Given the description of an element on the screen output the (x, y) to click on. 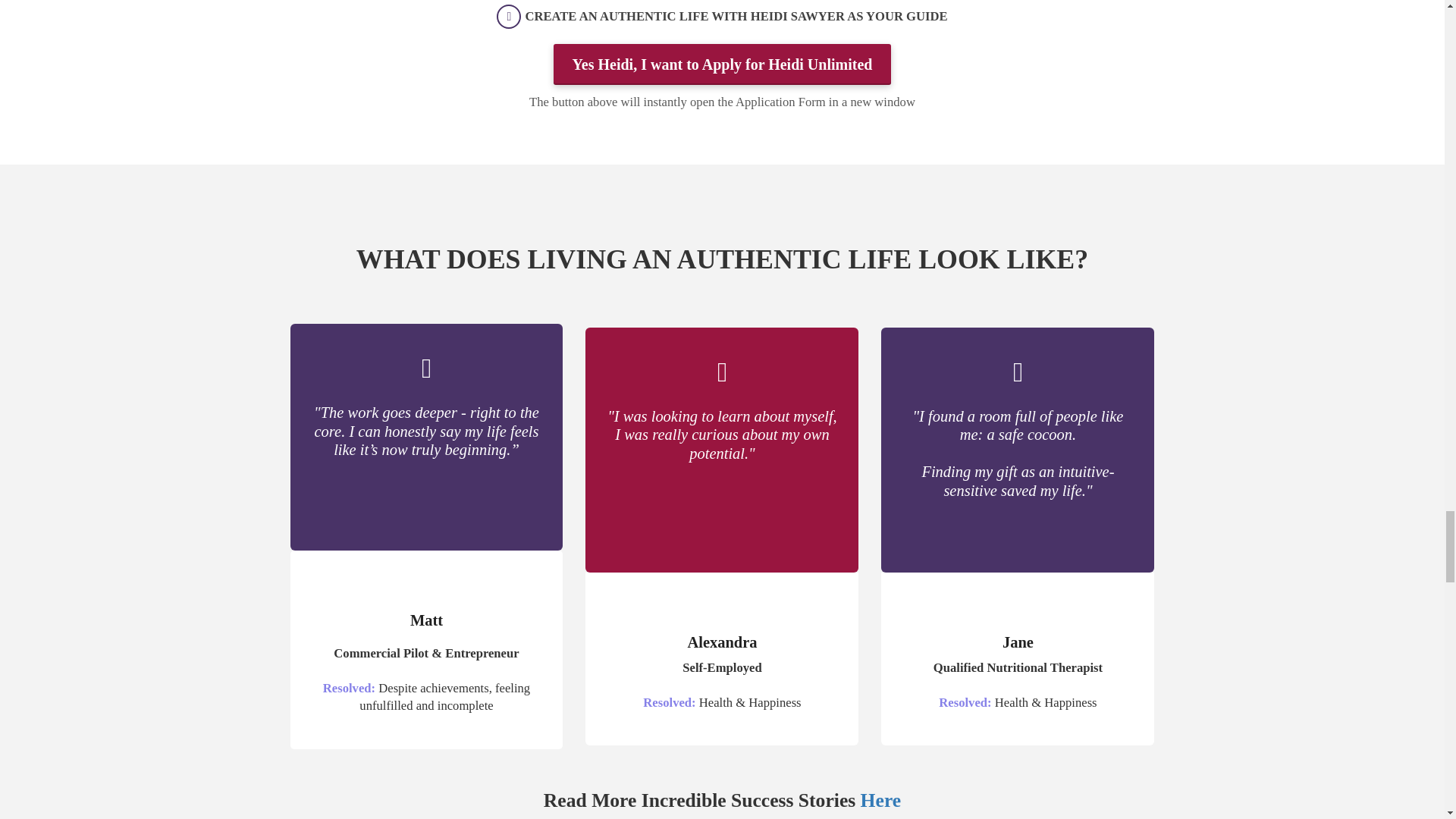
Here (880, 800)
Yes Heidi, I want to Apply for Heidi Unlimited (722, 64)
